Given the description of an element on the screen output the (x, y) to click on. 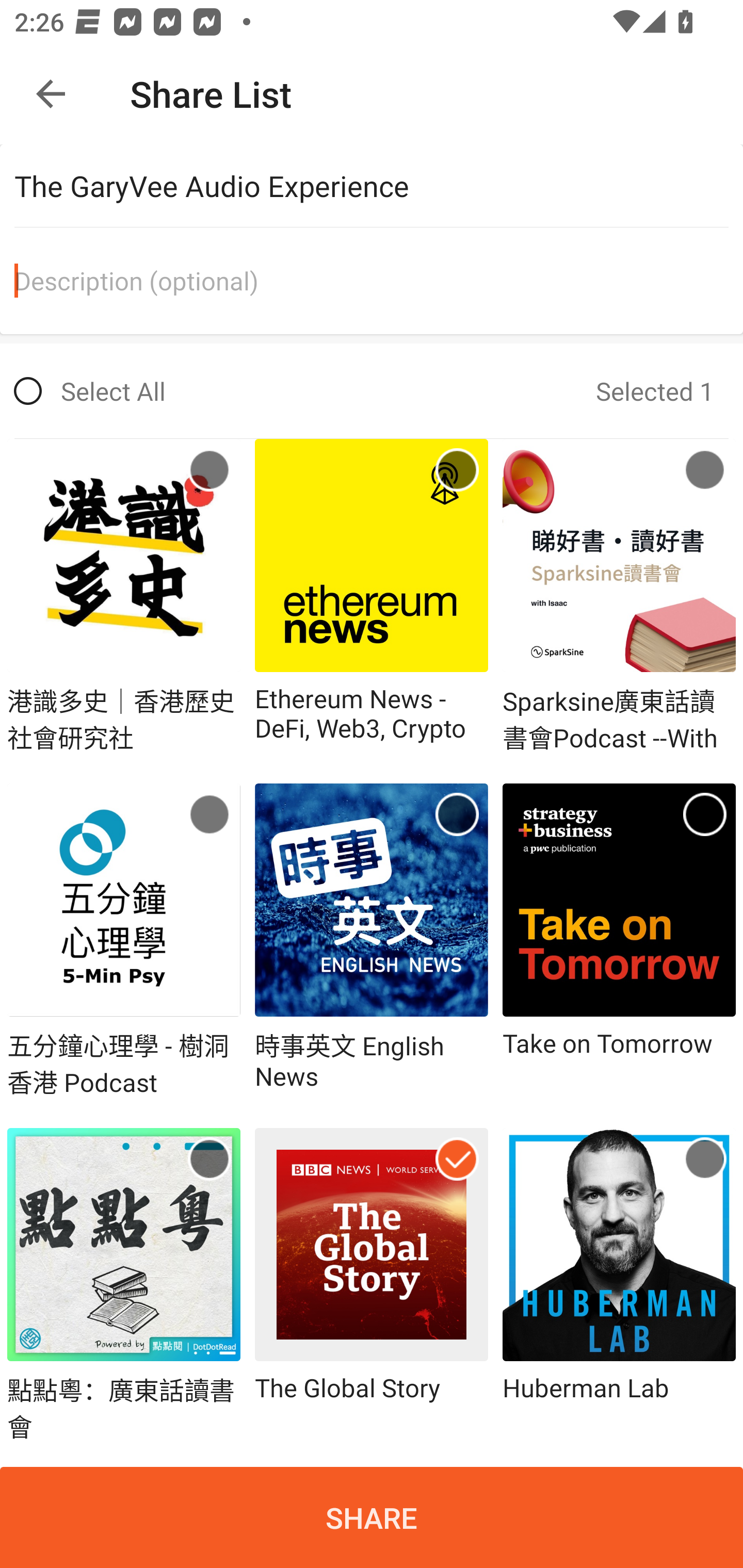
Navigate up (50, 93)
The GaryVee Audio Experience (378, 185)
Description (optional) (378, 280)
Select All (89, 391)
港識多史｜香港歷史社會研究社 (123, 596)
Ethereum News - DeFi, Web3, Crypto (371, 596)
Sparksine廣東話讀書會Podcast --With Isaac (618, 596)
五分鐘心理學 - 樹洞香港 Podcast (123, 941)
時事英文 English News (371, 941)
Take on Tomorrow (618, 941)
點點粵：廣東話讀書會 (123, 1285)
The Global Story (371, 1285)
Huberman Lab (618, 1285)
SHARE (371, 1517)
